Given the description of an element on the screen output the (x, y) to click on. 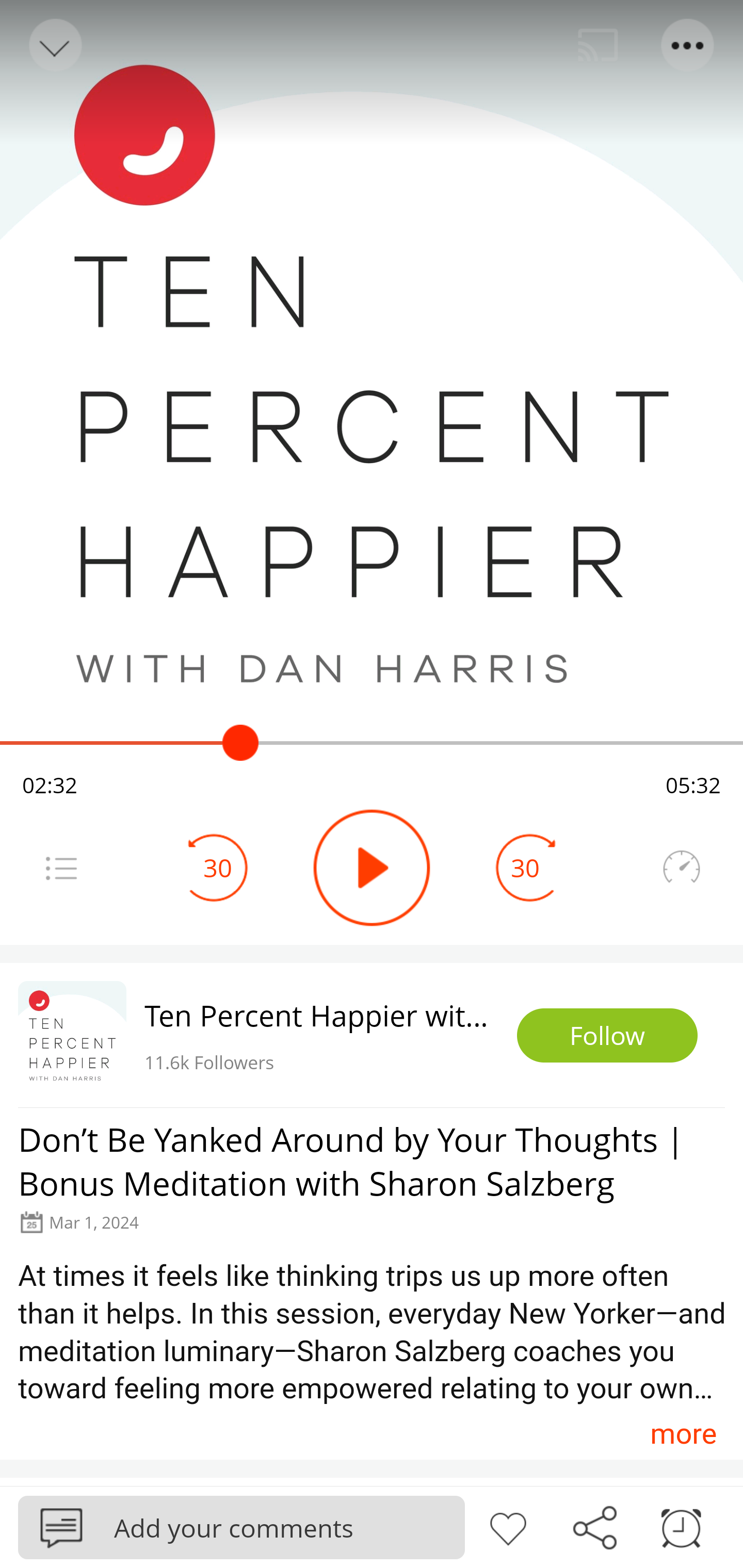
Back (53, 45)
Cast. Disconnected (597, 45)
Menu (688, 45)
Play (371, 867)
30 Seek Backward (217, 867)
30 Seek Forward (525, 867)
Menu (60, 867)
Speedometer (681, 867)
Follow (607, 1035)
more (682, 1432)
Like (508, 1526)
Share (594, 1526)
Sleep timer (681, 1526)
Podbean Add your comments (241, 1526)
